Given the description of an element on the screen output the (x, y) to click on. 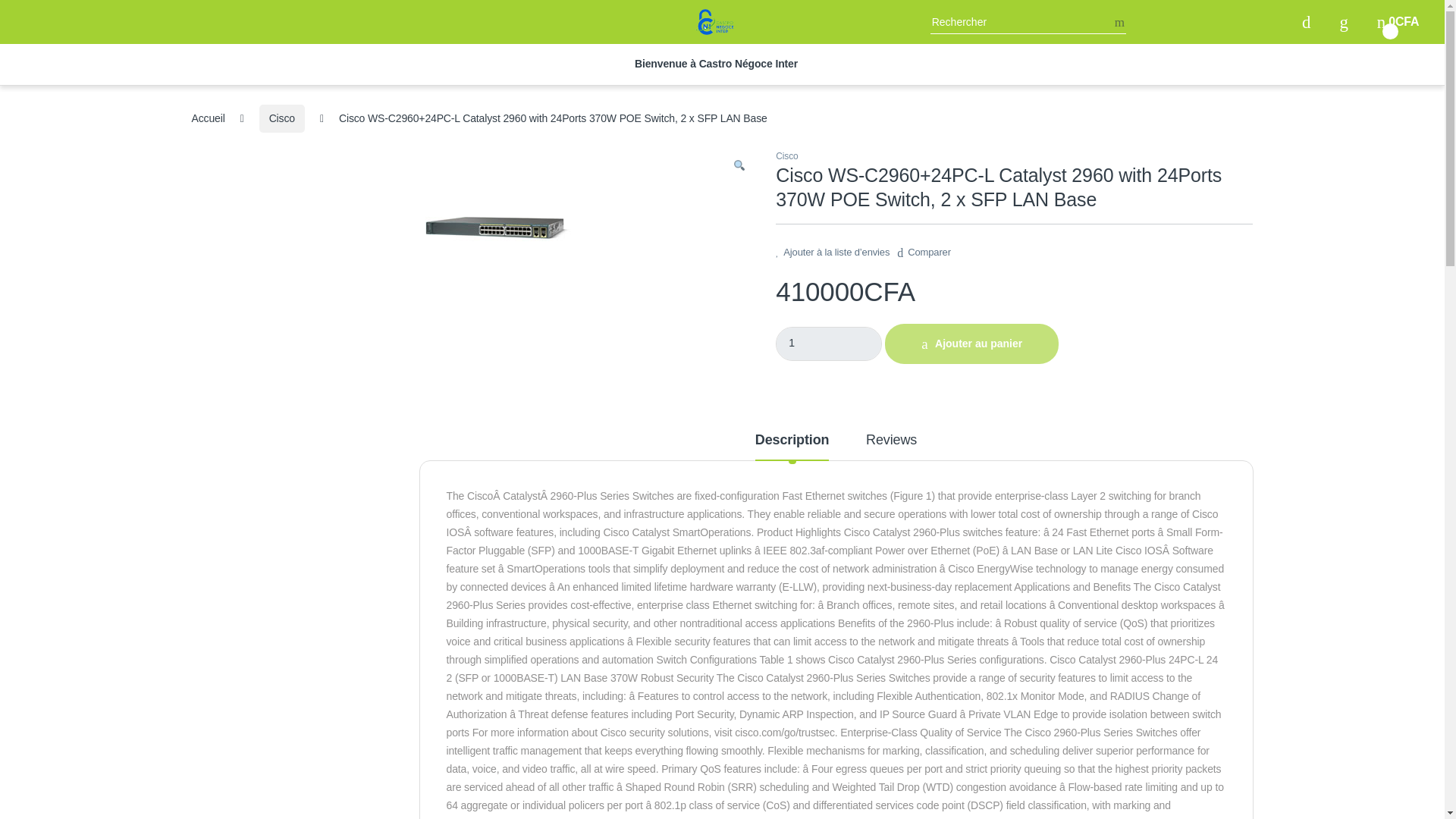
Cisco (786, 155)
Qty (1398, 21)
Cisco (829, 343)
1 (281, 118)
Accueil (829, 343)
Reviews (207, 118)
Description (891, 446)
Comparer (791, 446)
Ajouter au panier (923, 247)
